Given the description of an element on the screen output the (x, y) to click on. 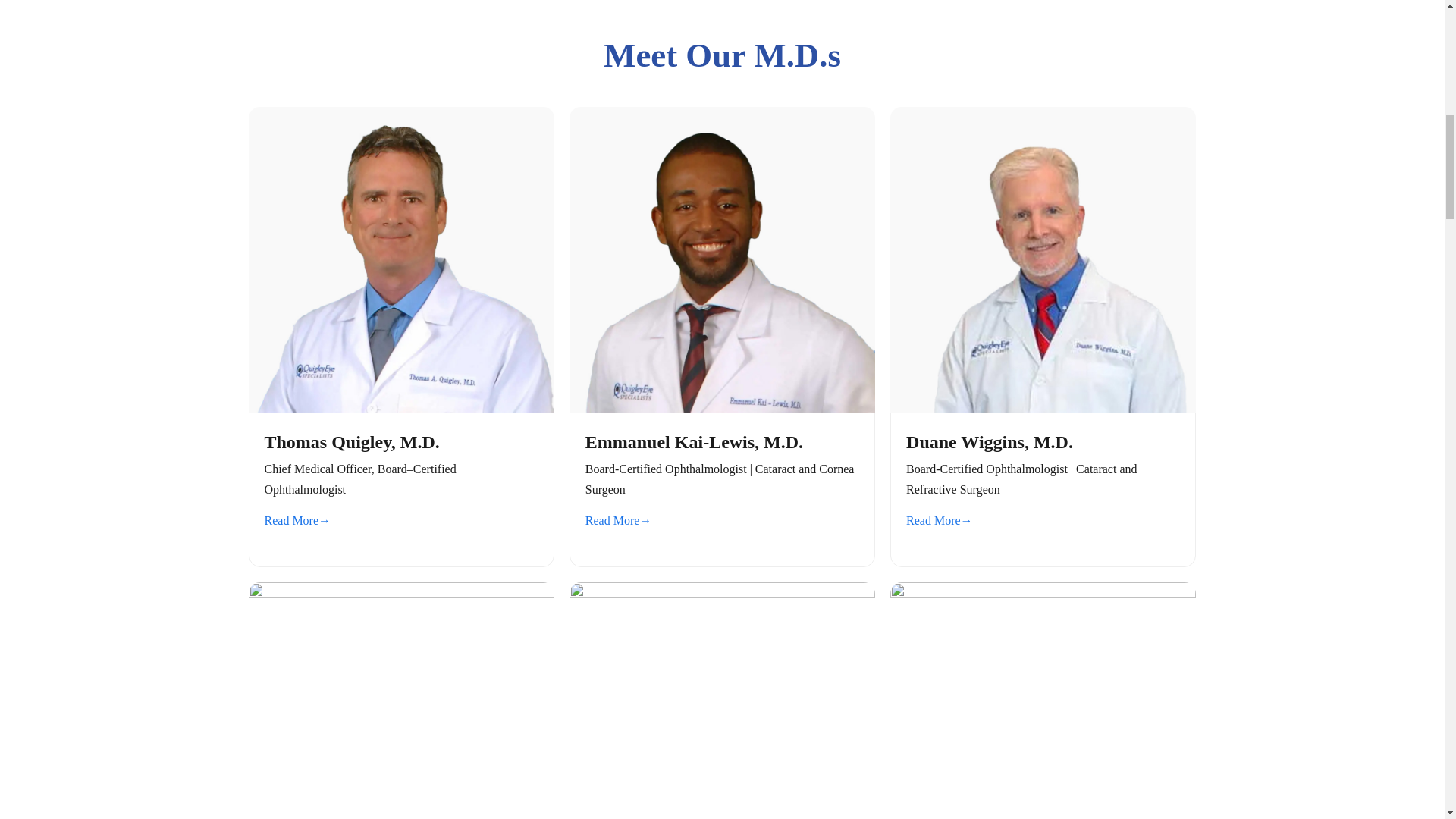
Thomas Quigley, M.D. (401, 404)
Emmanuel Kai-Lewis, M.D. (722, 404)
Duane Wiggins, M.D. (1042, 404)
